Given the description of an element on the screen output the (x, y) to click on. 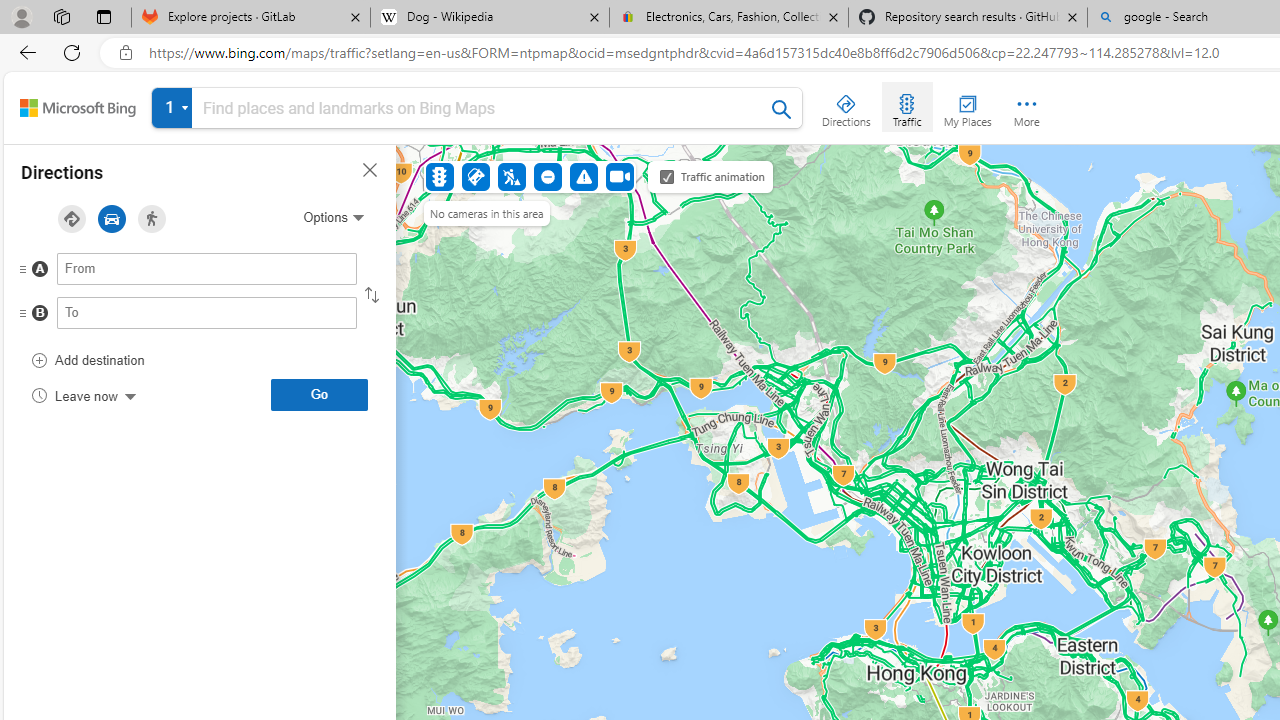
Reverse (371, 295)
Back (24, 52)
Electronics, Cars, Fashion, Collectibles & More | eBay (729, 17)
Go (319, 394)
Drag to reorder (38, 313)
A (167, 274)
My Places (967, 106)
Close (369, 169)
Tab actions menu (104, 16)
Refresh (72, 52)
Add destination (88, 359)
Search Bing Maps (781, 109)
Options (333, 217)
Class: sbElement (77, 107)
To (207, 312)
